Given the description of an element on the screen output the (x, y) to click on. 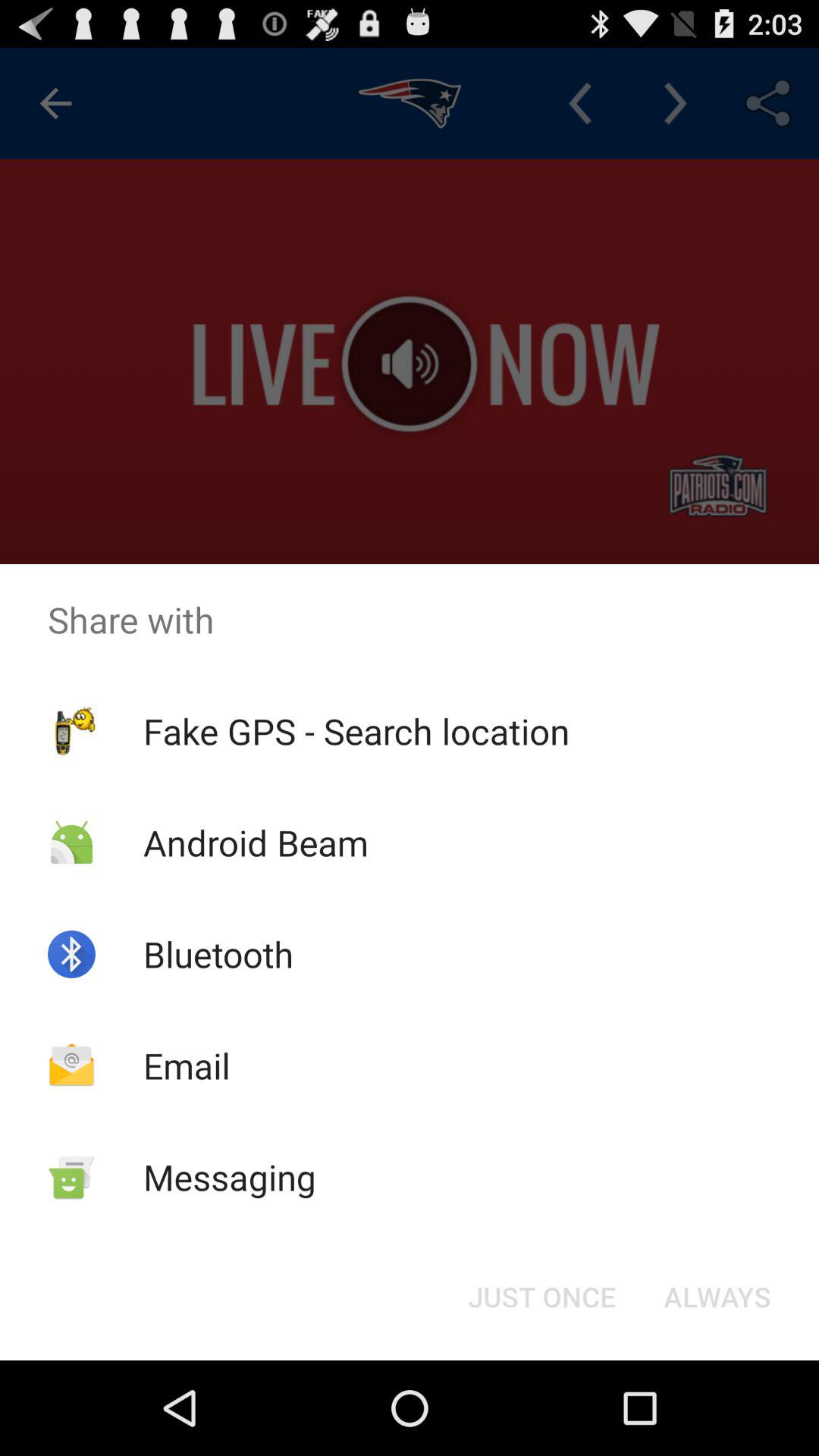
press icon below the fake gps search app (541, 1296)
